Given the description of an element on the screen output the (x, y) to click on. 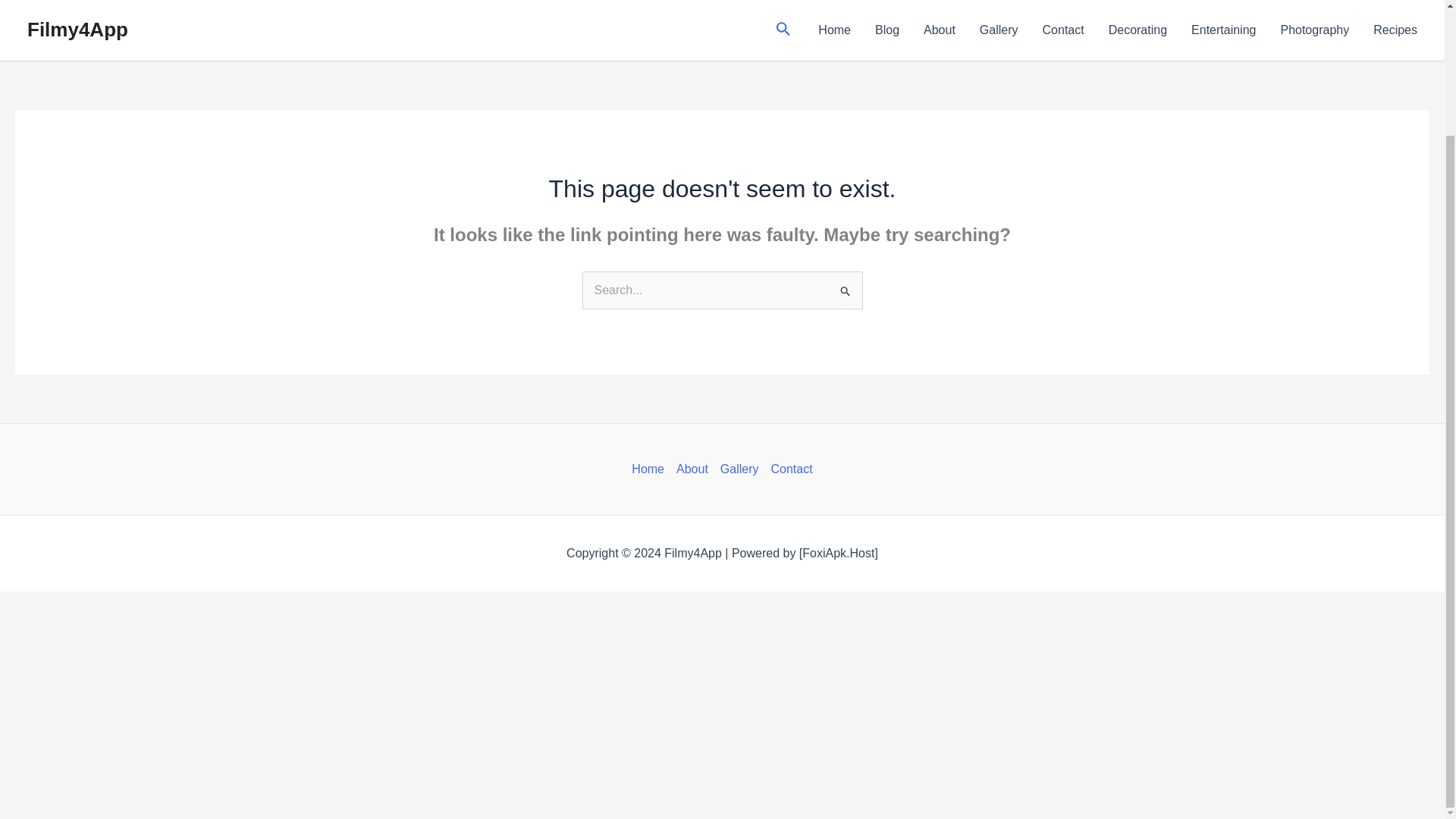
Gallery (999, 30)
Contact (788, 468)
Contact (1063, 30)
Gallery (739, 468)
Home (650, 468)
Photography (1314, 30)
Decorating (1137, 30)
About (939, 30)
Filmy4App (77, 29)
Entertaining (1223, 30)
About (691, 468)
Home (834, 30)
Recipes (1395, 30)
